Given the description of an element on the screen output the (x, y) to click on. 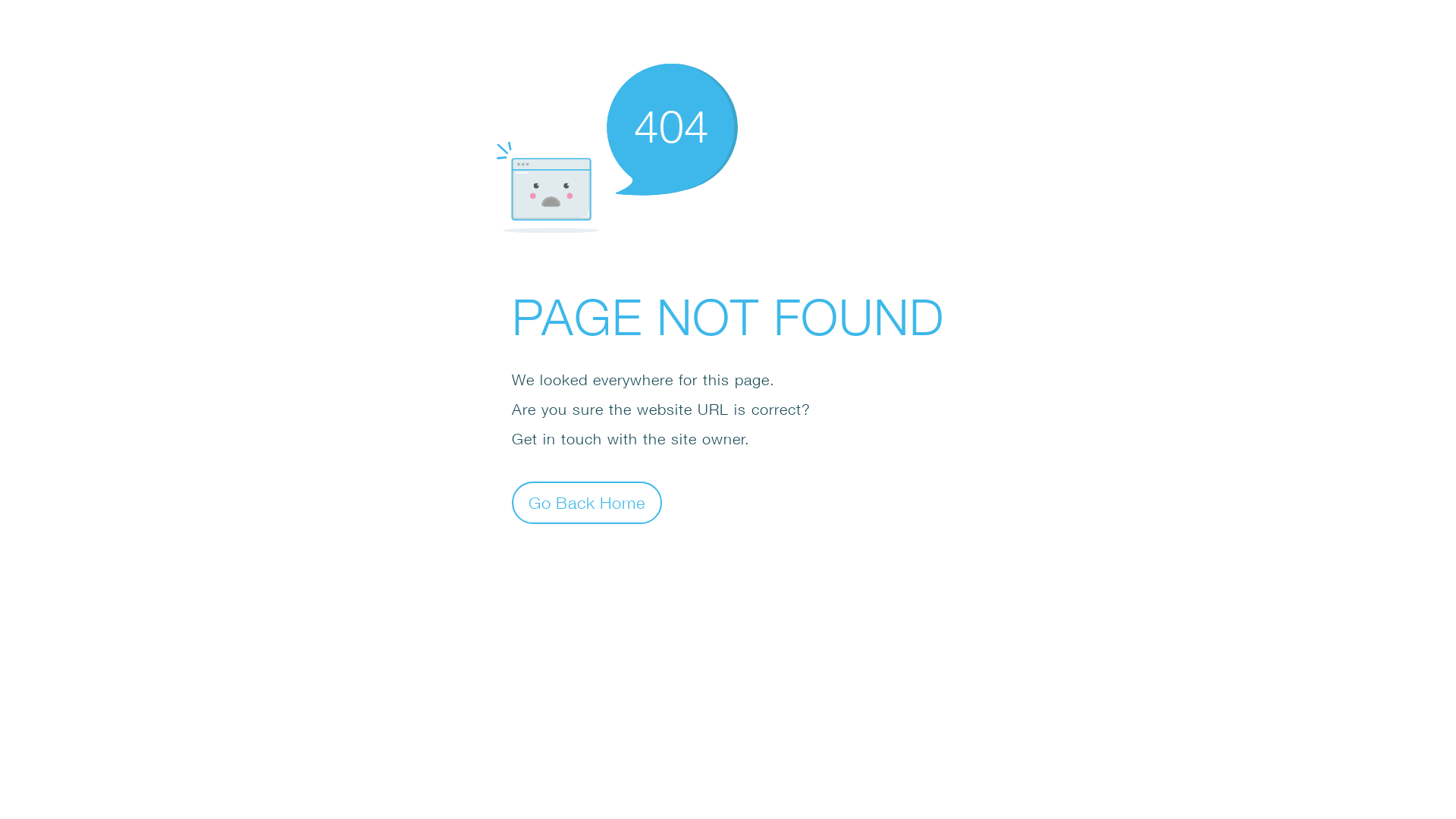
Go Back Home Element type: text (586, 502)
